Given the description of an element on the screen output the (x, y) to click on. 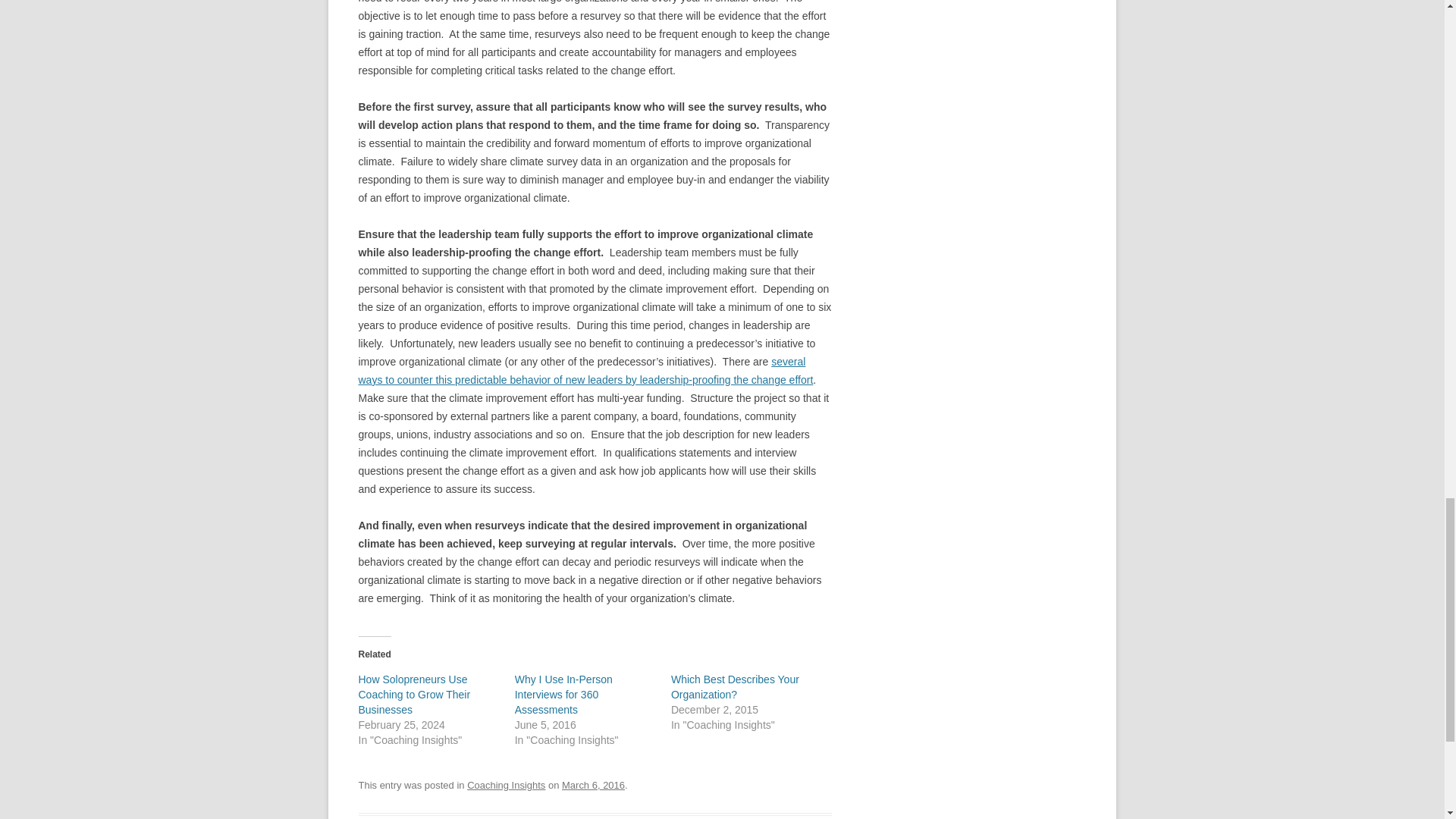
Which Best Describes Your Organization? (735, 687)
Coaching Insights (505, 785)
March 6, 2016 (593, 785)
6:17 pm (593, 785)
Why I Use In-Person Interviews for 360 Assessments (563, 694)
How Solopreneurs Use Coaching to Grow Their Businesses (414, 694)
How Solopreneurs Use Coaching to Grow Their Businesses (414, 694)
Which Best Describes Your Organization? (735, 687)
Why I Use In-Person Interviews for 360 Assessments (563, 694)
